Given the description of an element on the screen output the (x, y) to click on. 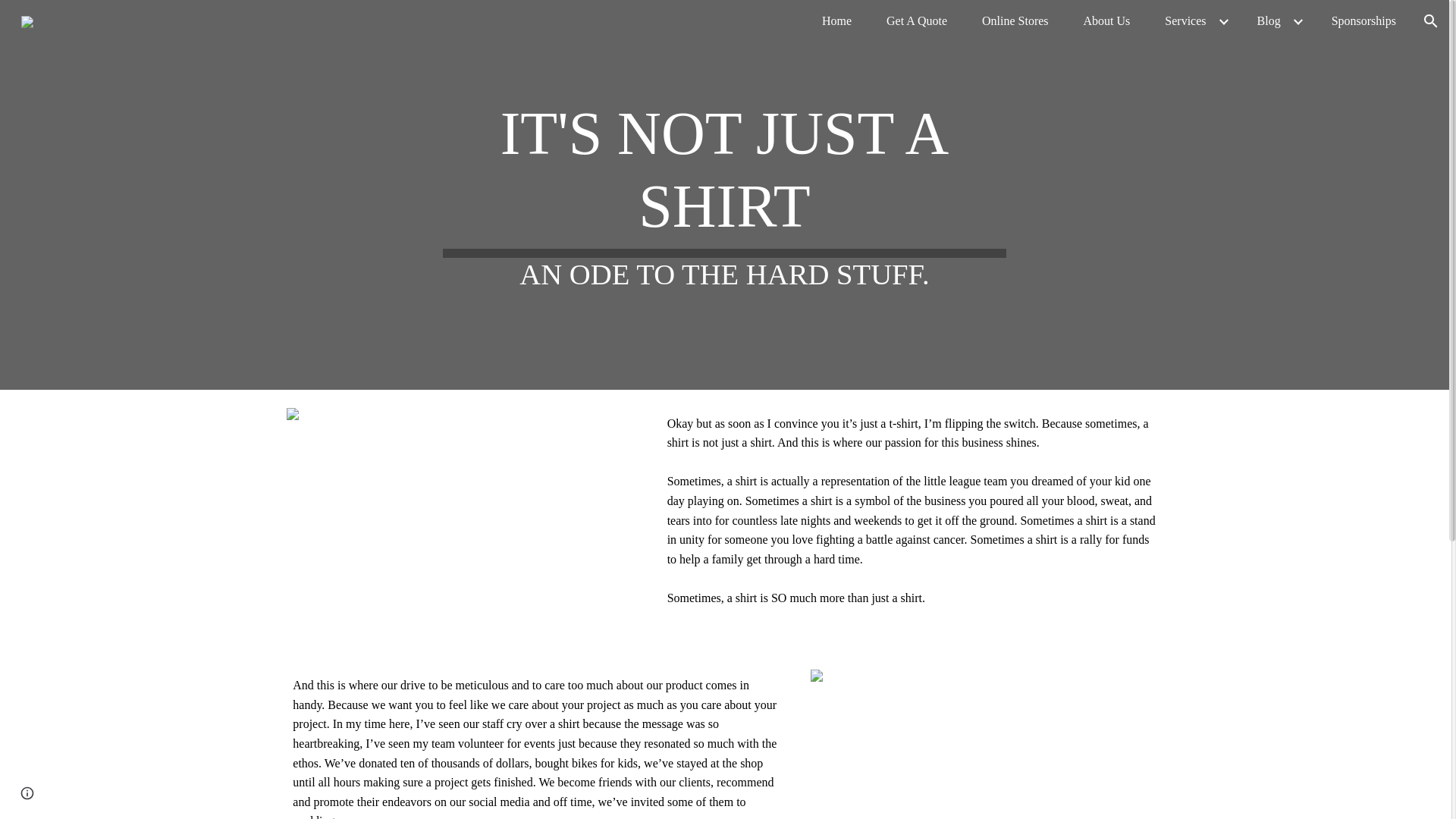
Home (836, 20)
Services (1184, 20)
Online Stores (1015, 20)
Get A Quote (917, 20)
About Us (1106, 20)
Sponsorships (1363, 20)
Blog (1268, 20)
